Given the description of an element on the screen output the (x, y) to click on. 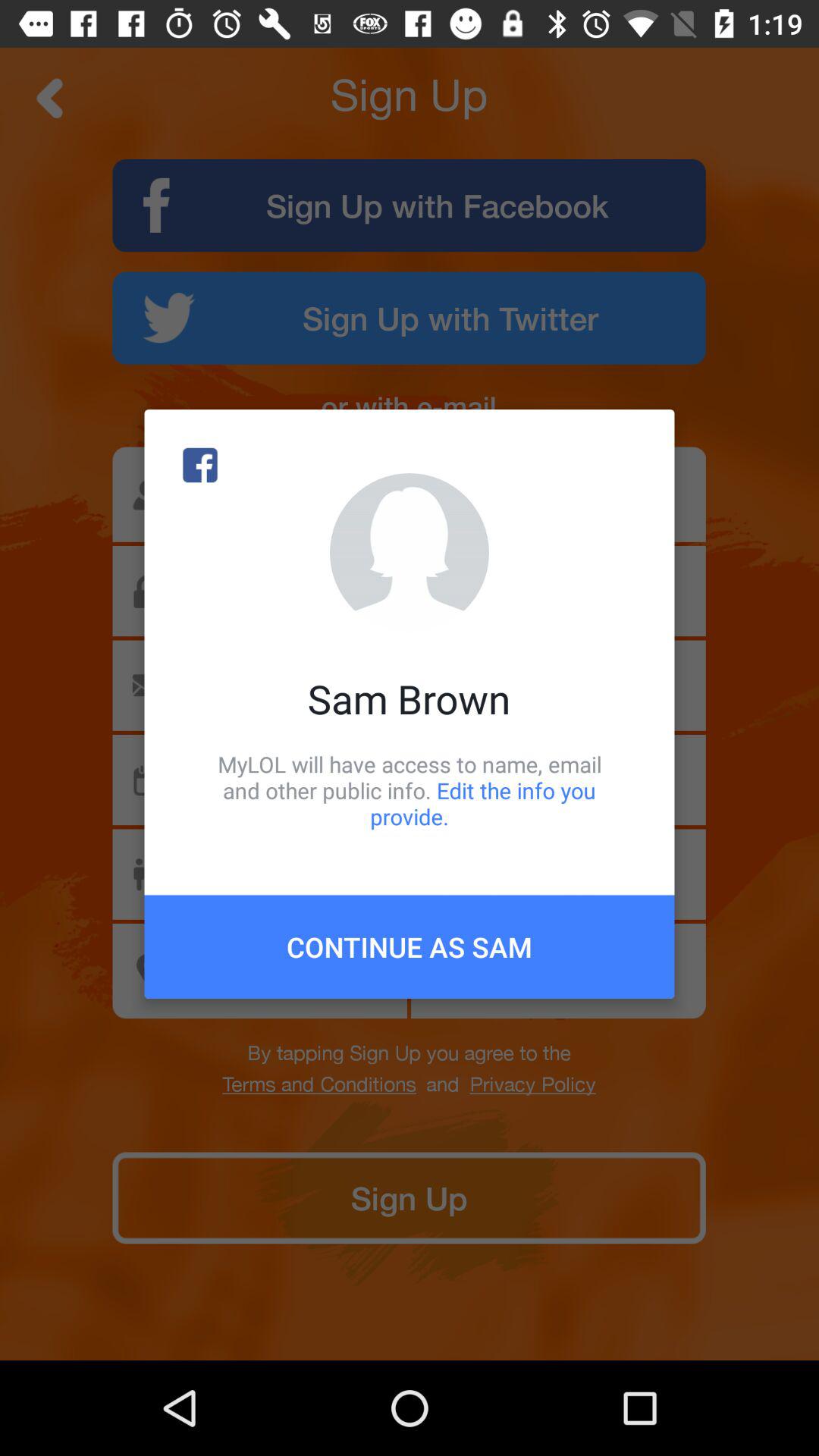
jump to the continue as sam item (409, 946)
